Given the description of an element on the screen output the (x, y) to click on. 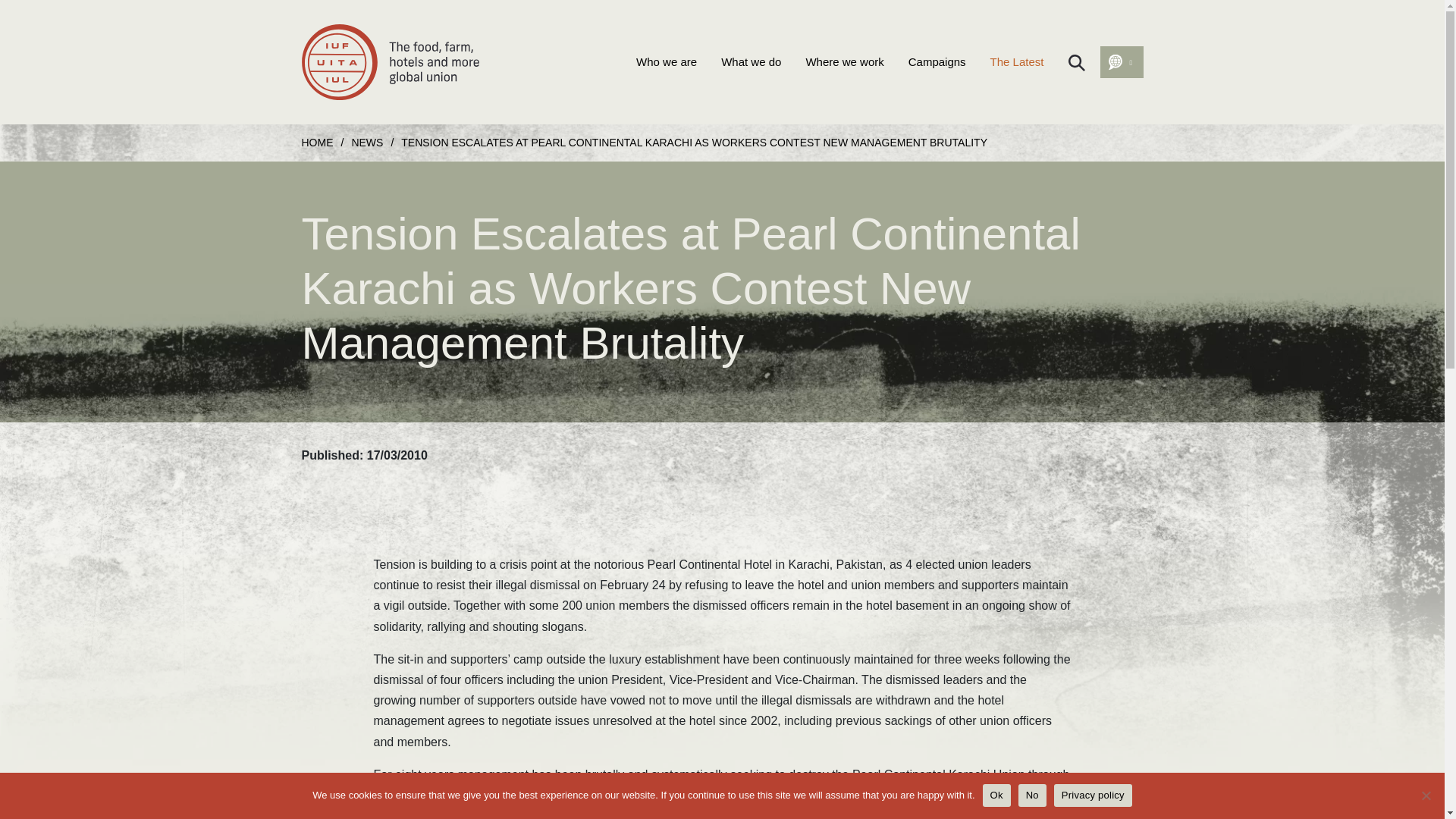
Who we are (666, 62)
Where we work (844, 62)
What we do (751, 62)
What we do (751, 62)
Who we are (666, 62)
